Given the description of an element on the screen output the (x, y) to click on. 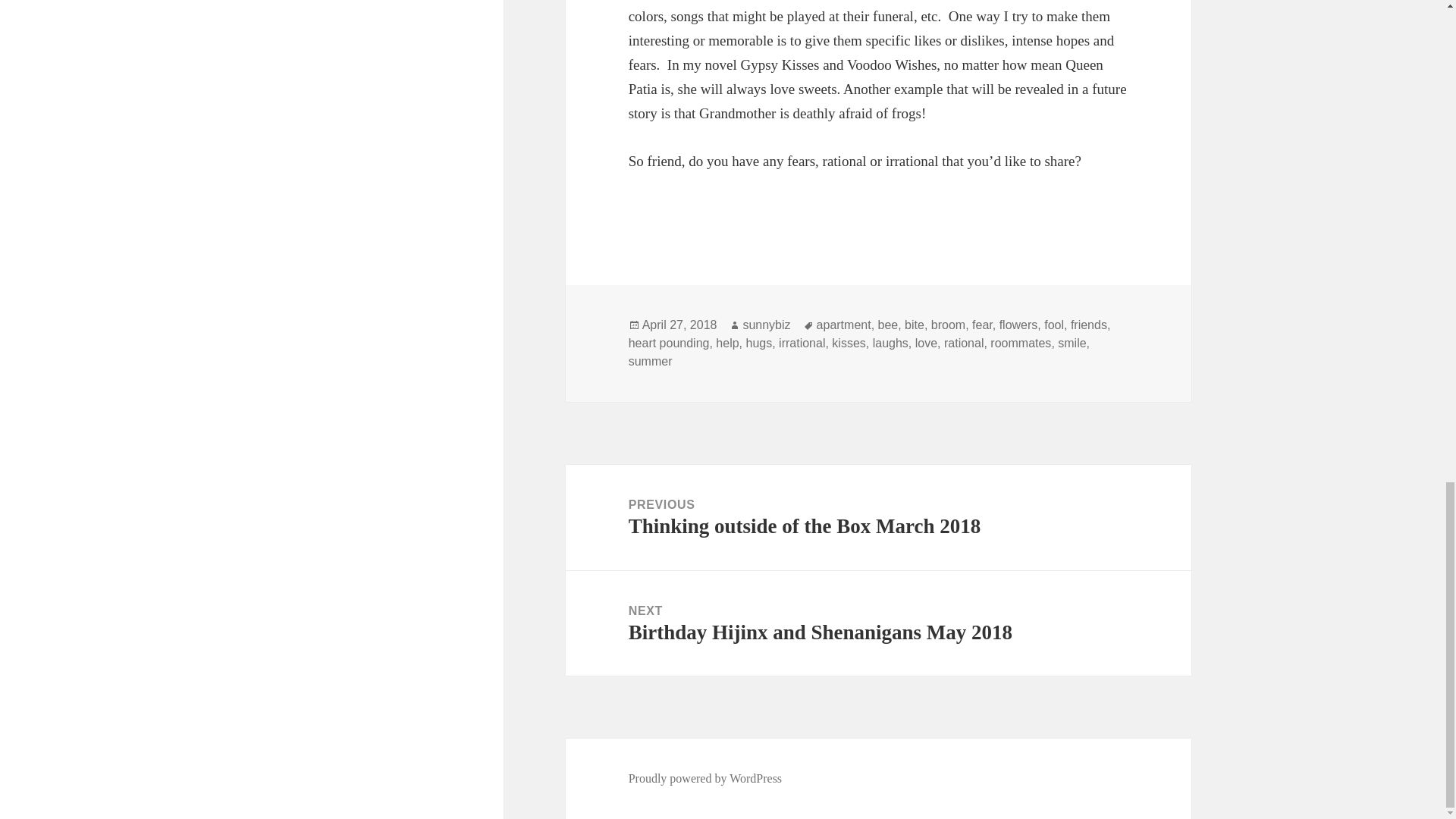
smile (1072, 343)
rational (878, 623)
fool (963, 343)
hugs (1053, 325)
April 27, 2018 (758, 343)
kisses (679, 325)
flowers (847, 343)
love (1018, 325)
summer (926, 343)
bite (650, 361)
roommates (914, 325)
broom (1020, 343)
sunnybiz (948, 325)
